Given the description of an element on the screen output the (x, y) to click on. 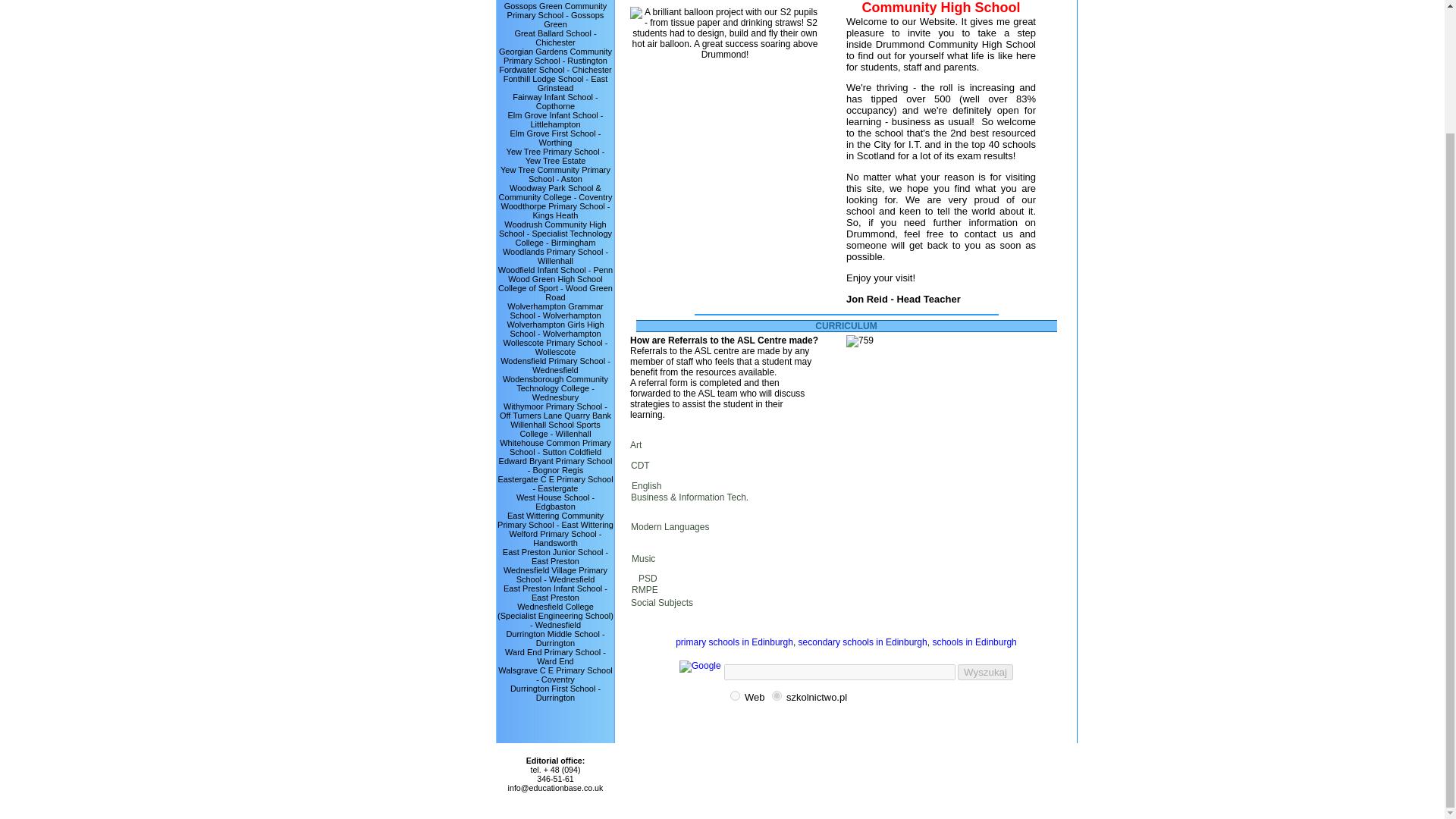
West House School - Edgbaston (555, 502)
Wolverhampton Grammar School - Wolverhampton (554, 311)
primary schools in Edinburgh (734, 642)
szkolnictwo.pl (776, 696)
Woodfield Infant School - Penn (554, 269)
East Preston Junior School - East Preston (555, 556)
Welford Primary School - Handsworth (554, 538)
Fairway Infant School - Copthorne (555, 101)
Whitehouse Common Primary School - Sutton Coldfield (555, 447)
Woodlands Primary School - Willenhall (555, 256)
